Given the description of an element on the screen output the (x, y) to click on. 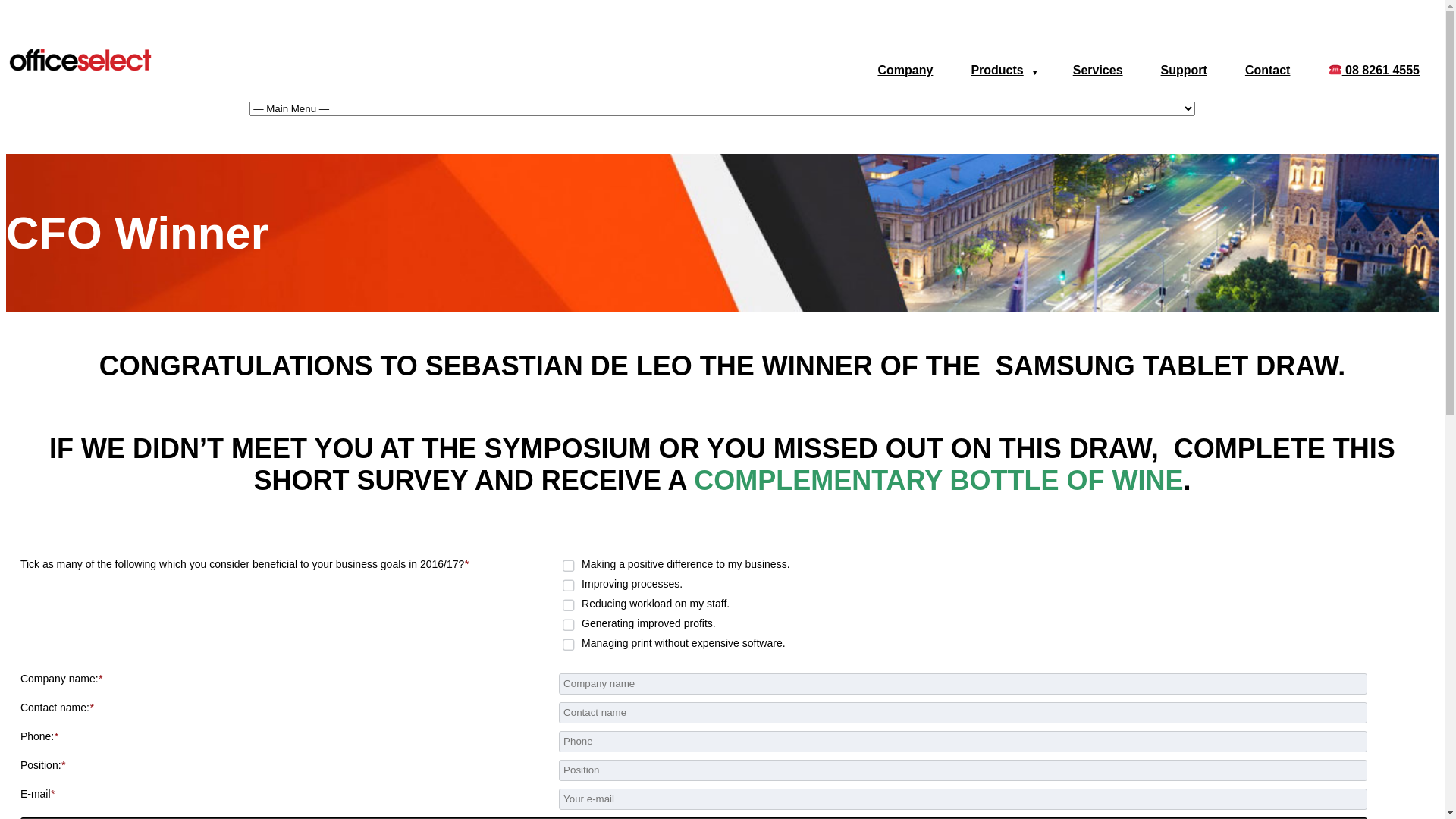
Company Element type: text (904, 69)
Officeselect Element type: hover (81, 71)
Products Element type: text (996, 69)
Contact Element type: text (1267, 69)
08 8261 4555 Element type: text (1373, 69)
Support Element type: text (1184, 69)
Services Element type: text (1097, 69)
